Given the description of an element on the screen output the (x, y) to click on. 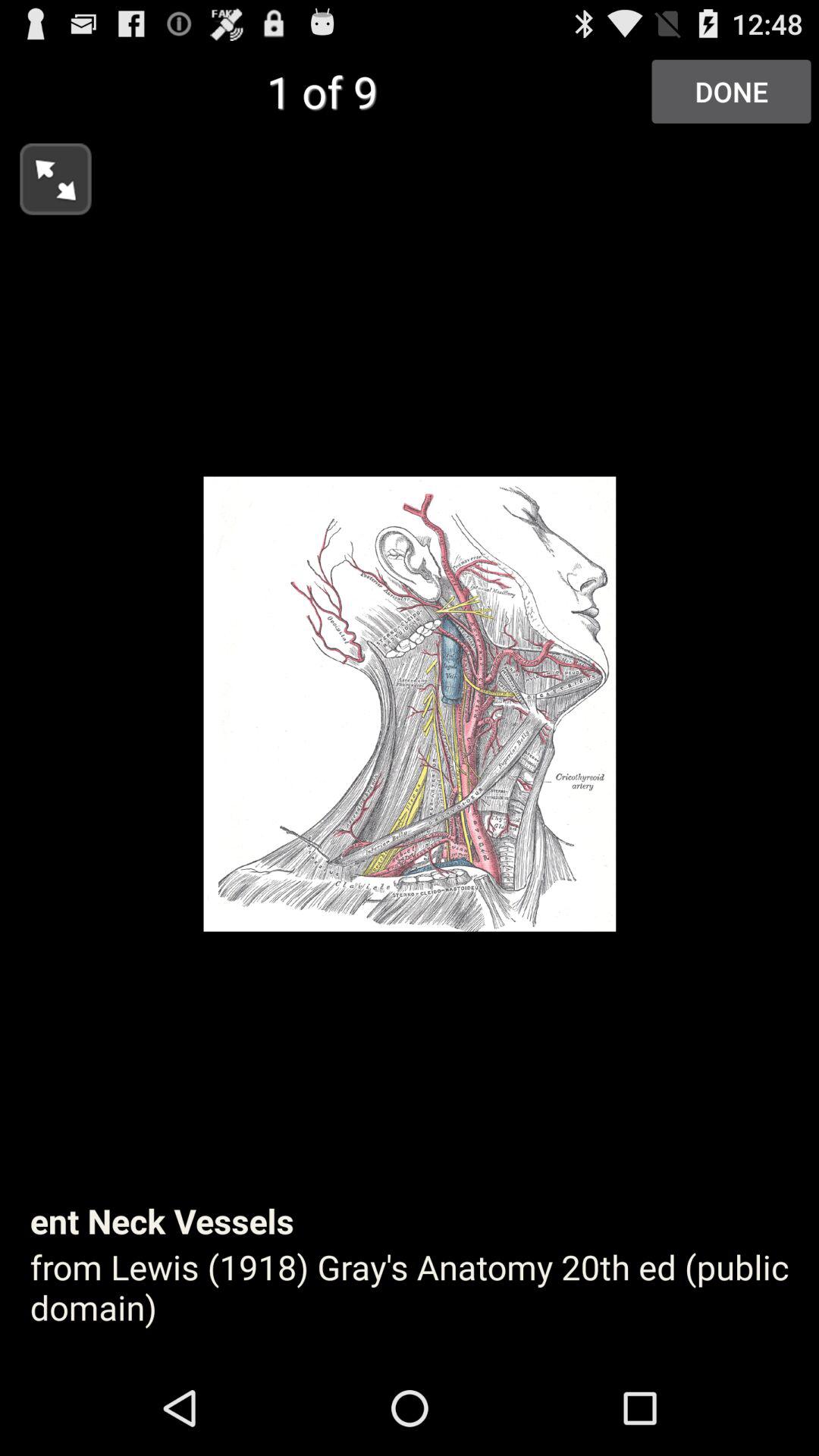
turn on icon at the top left corner (45, 174)
